Given the description of an element on the screen output the (x, y) to click on. 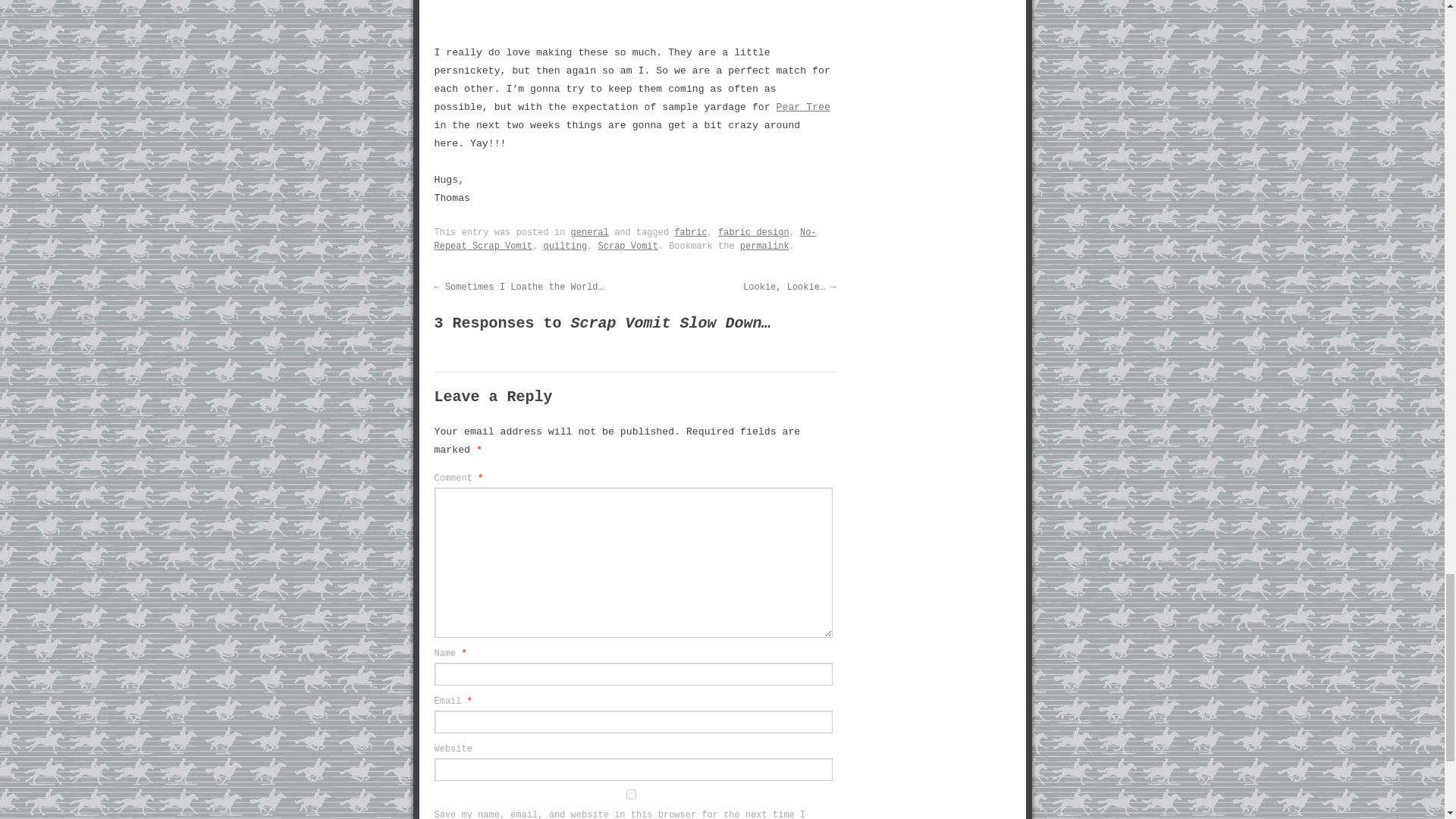
Pear Tree (802, 107)
Scrap Vomit (628, 245)
thomas-knauer-sews-scrap-vomit-block13 (638, 12)
general (589, 232)
quilting (565, 245)
No-Repeat Scrap Vomit (624, 239)
fabric design (753, 232)
permalink (764, 245)
yes (630, 794)
fabric (690, 232)
